Given the description of an element on the screen output the (x, y) to click on. 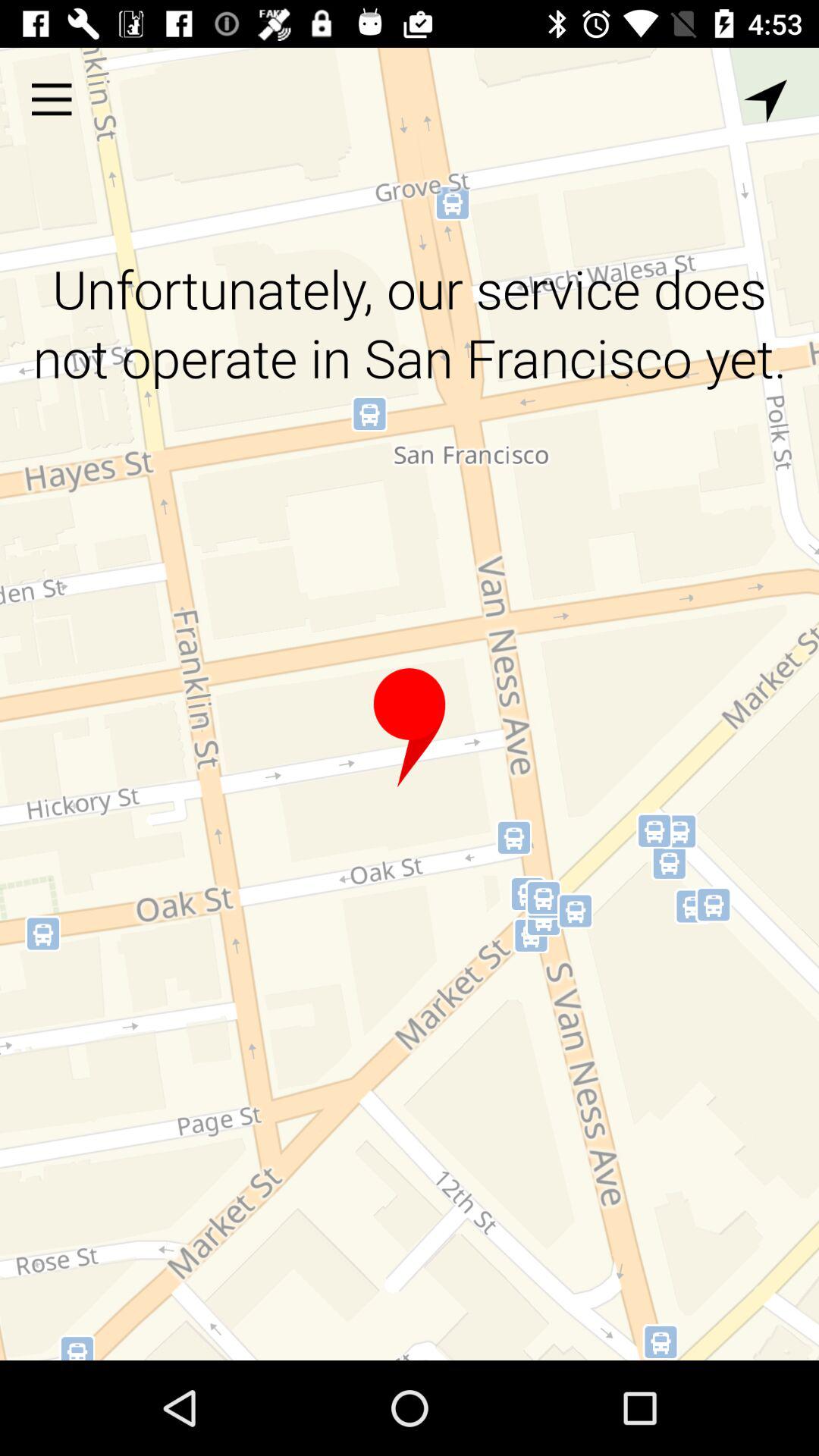
tap the icon at the top left corner (51, 99)
